Given the description of an element on the screen output the (x, y) to click on. 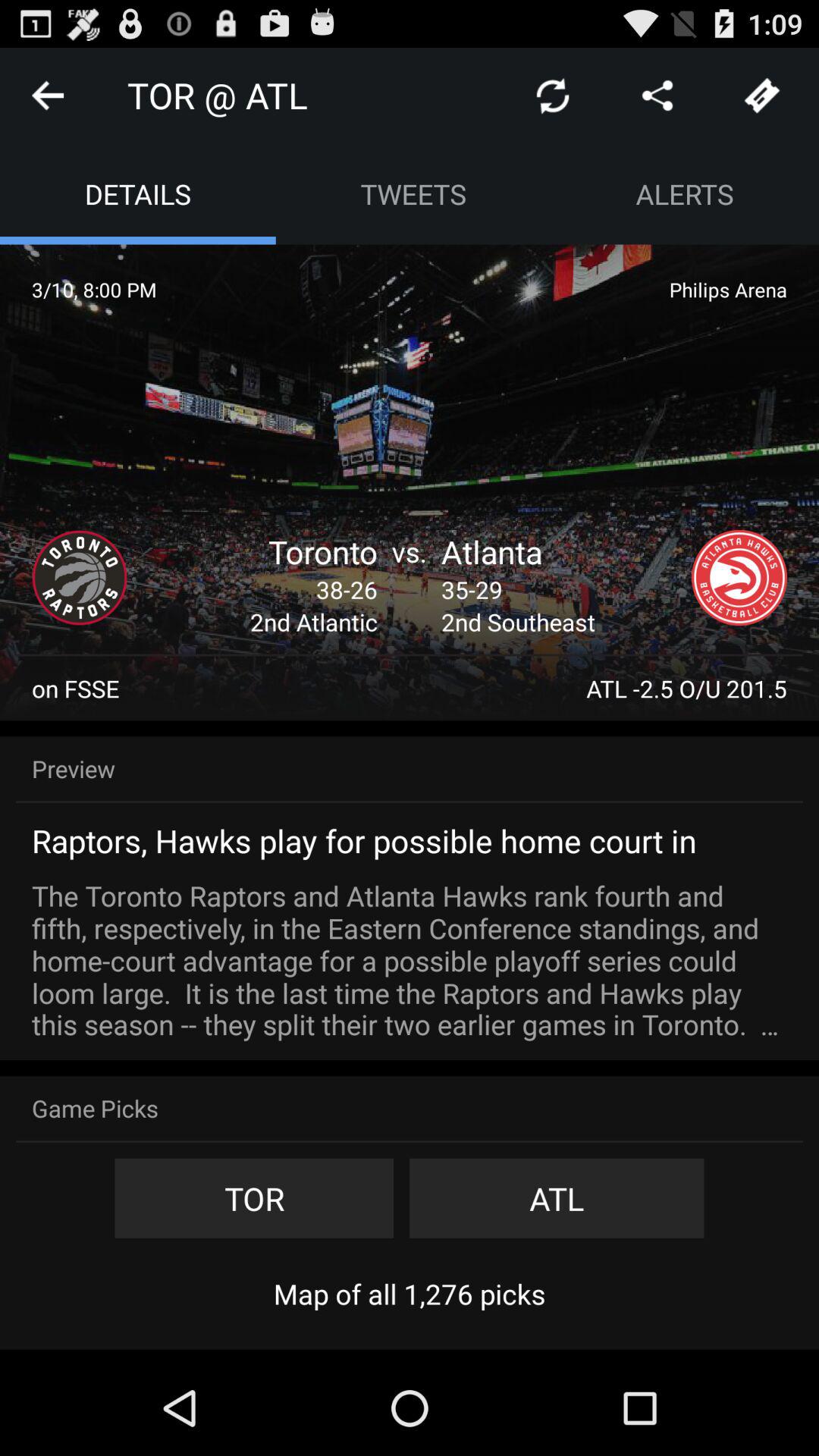
team page (79, 577)
